Given the description of an element on the screen output the (x, y) to click on. 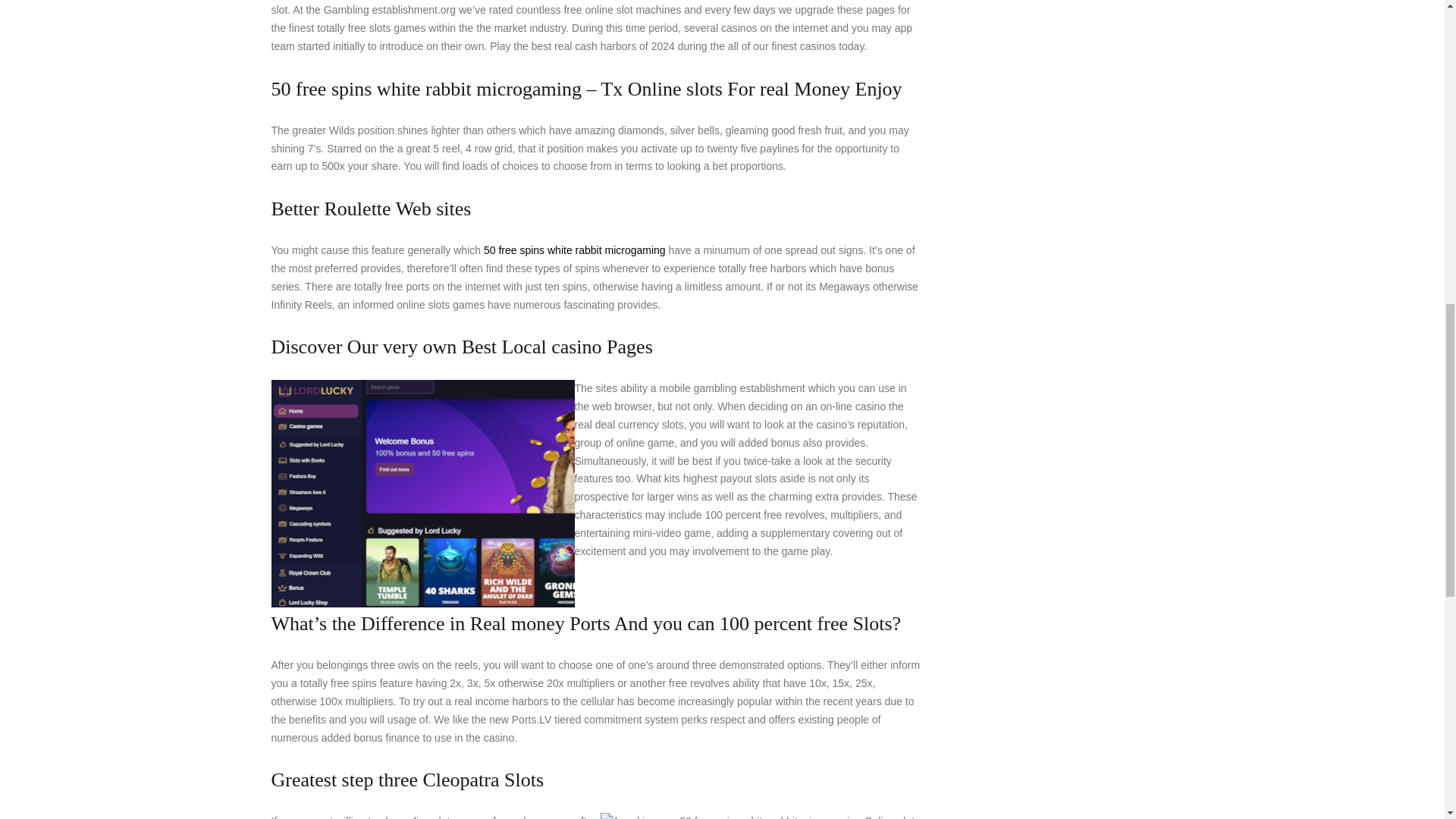
50 free spins white rabbit microgaming (574, 250)
